Given the description of an element on the screen output the (x, y) to click on. 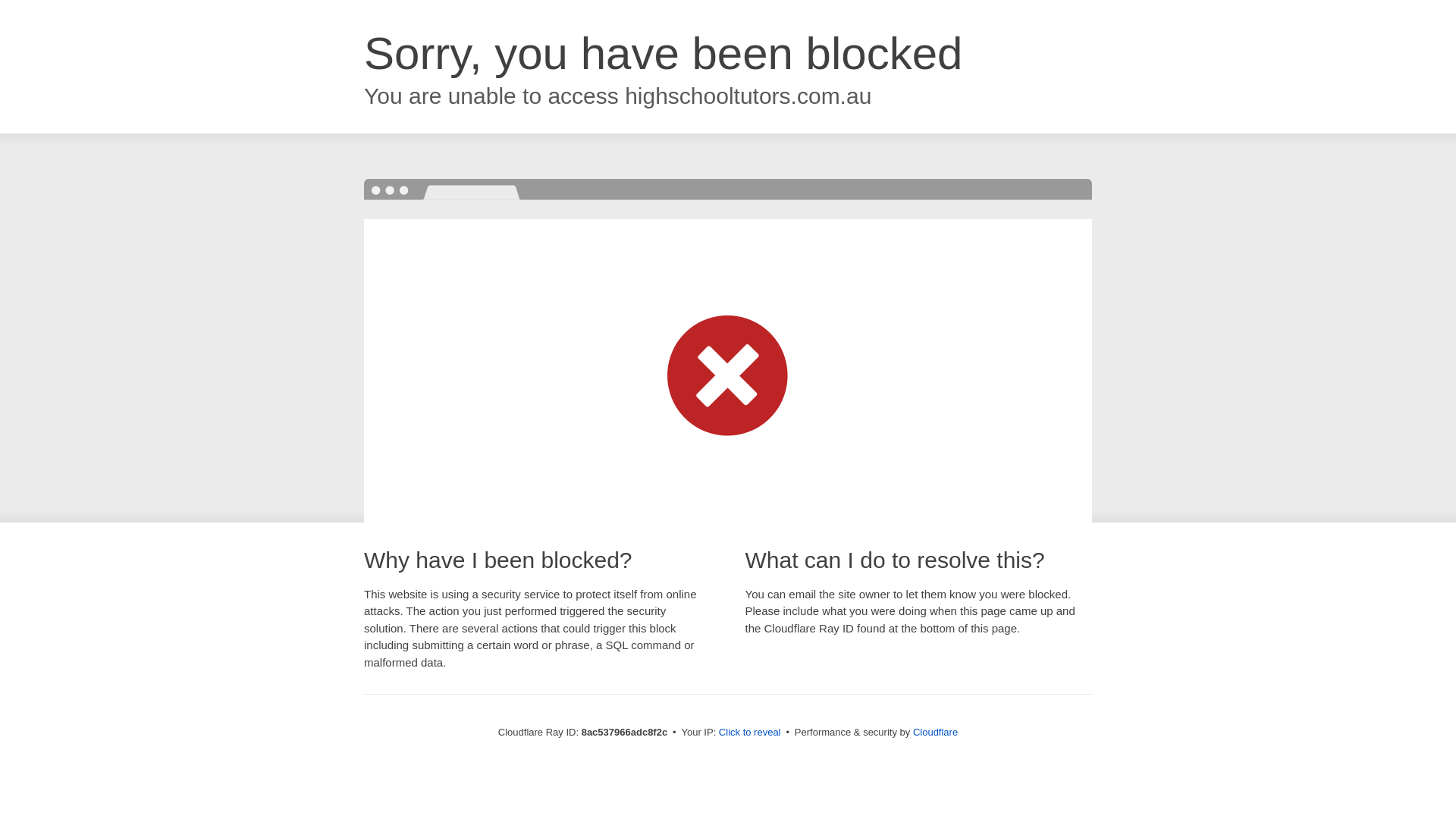
Click to reveal (749, 732)
Cloudflare (935, 731)
